Given the description of an element on the screen output the (x, y) to click on. 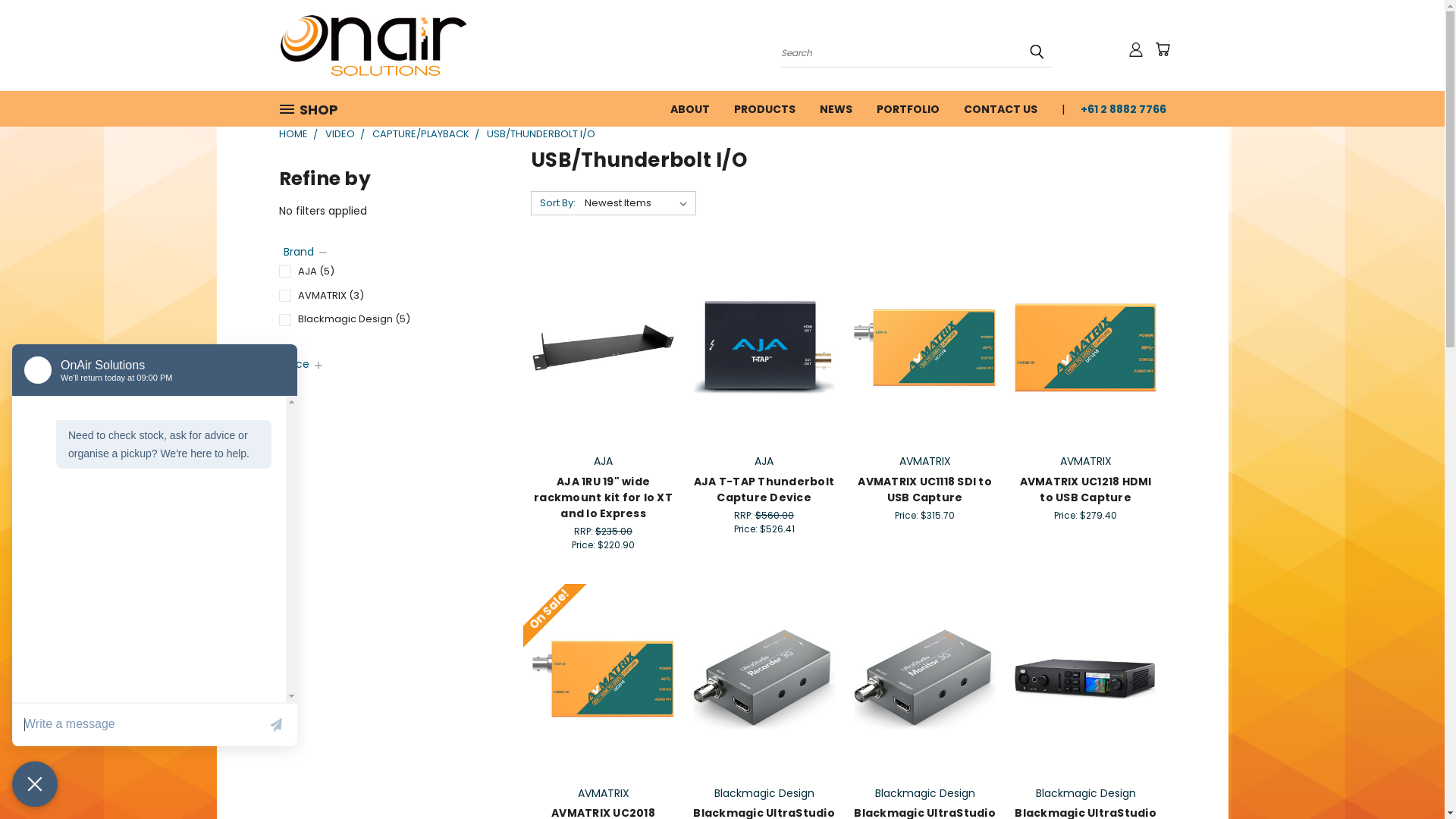
AJA T-TAP Thunderbolt Capture Device - Image 1 Element type: hover (763, 347)
PORTFOLIO Element type: text (907, 108)
+61 2 8882 7766 Element type: text (1116, 108)
Blackmagic UltraStudio 4K Mini - Image 1 Element type: hover (1085, 678)
CONTACT US Element type: text (999, 108)
Blackmagic UltraStudio Monitor 3G - Image 1 Element type: hover (924, 679)
Price Element type: text (304, 363)
ABOUT Element type: text (689, 108)
AVMATRIX UC1118 SDI to USB Capture Element type: text (924, 489)
AJA T-TAP Thunderbolt Capture Device Element type: text (763, 489)
HOME Element type: text (293, 133)
AJA 1RU 19" wide rackmount kit for Io XT and Io Express Element type: text (602, 496)
AVMATRIX UC2018 SDI/HDMI to USB Capture - Image 1 Element type: hover (602, 678)
AJA (5) Element type: text (385, 271)
VIDEO Element type: text (339, 133)
AVMATRIX UC1118 SDI to USB Capture - Image 1 Element type: hover (924, 347)
Brand Element type: text (306, 251)
AVMATRIX (3) Element type: text (385, 295)
Blackmagic Design (5) Element type: text (385, 319)
AVMATRIX UC1218 HDMI to USB Capture - Image 1 Element type: hover (1085, 347)
PRODUCTS Element type: text (764, 108)
SHOP Element type: text (314, 109)
NEWS Element type: text (834, 108)
submit Element type: hover (1036, 51)
CAPTURE/PLAYBACK Element type: text (419, 133)
AVMATRIX UC1218 HDMI to USB Capture Element type: text (1085, 489)
Blackmagic UltraStudio Recorder 3G - Image 1 Element type: hover (763, 679)
OnAir Solutions Element type: hover (373, 45)
